Given the description of an element on the screen output the (x, y) to click on. 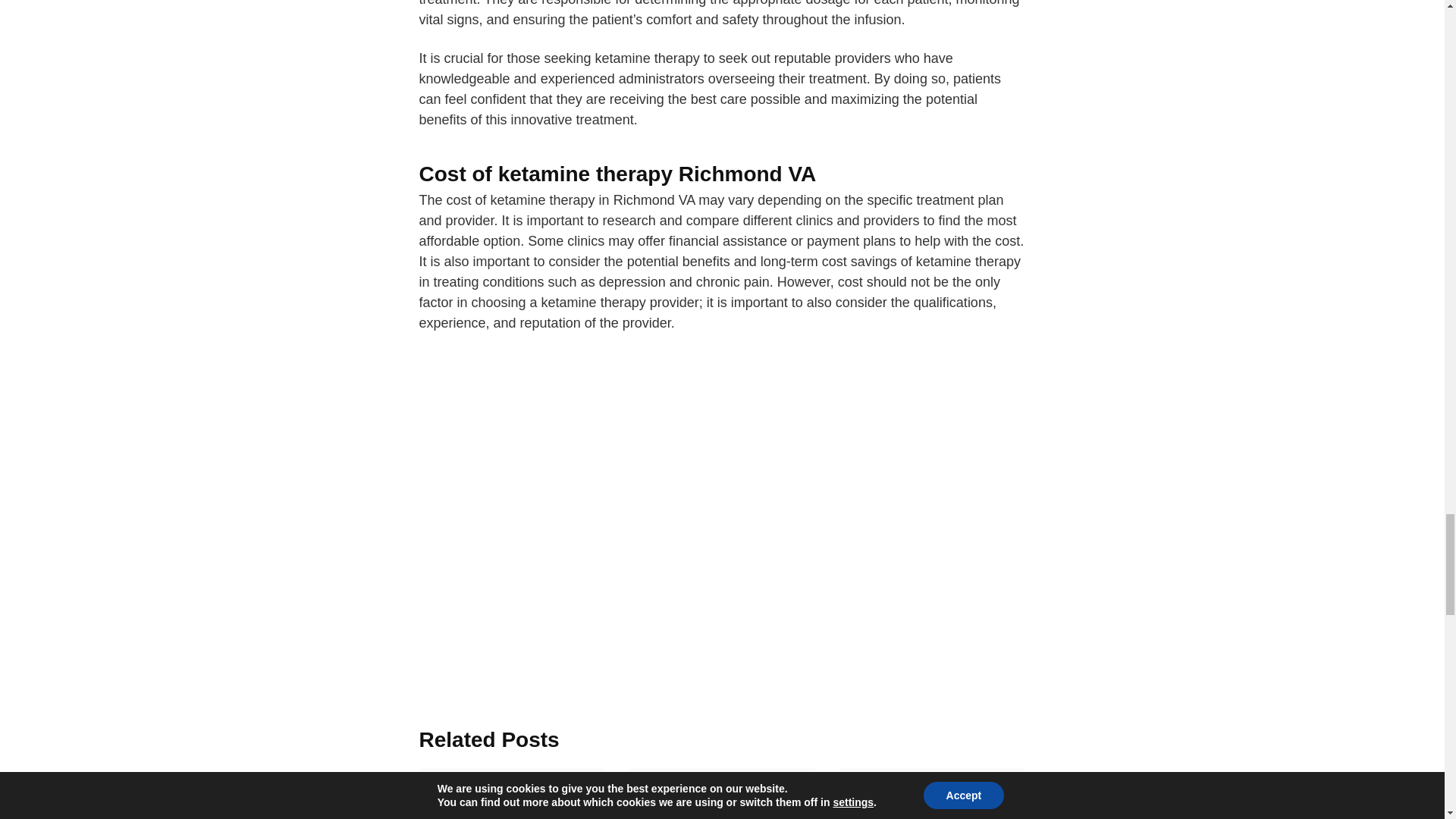
Ketamine Therapy Richmond Va (722, 409)
